Given the description of an element on the screen output the (x, y) to click on. 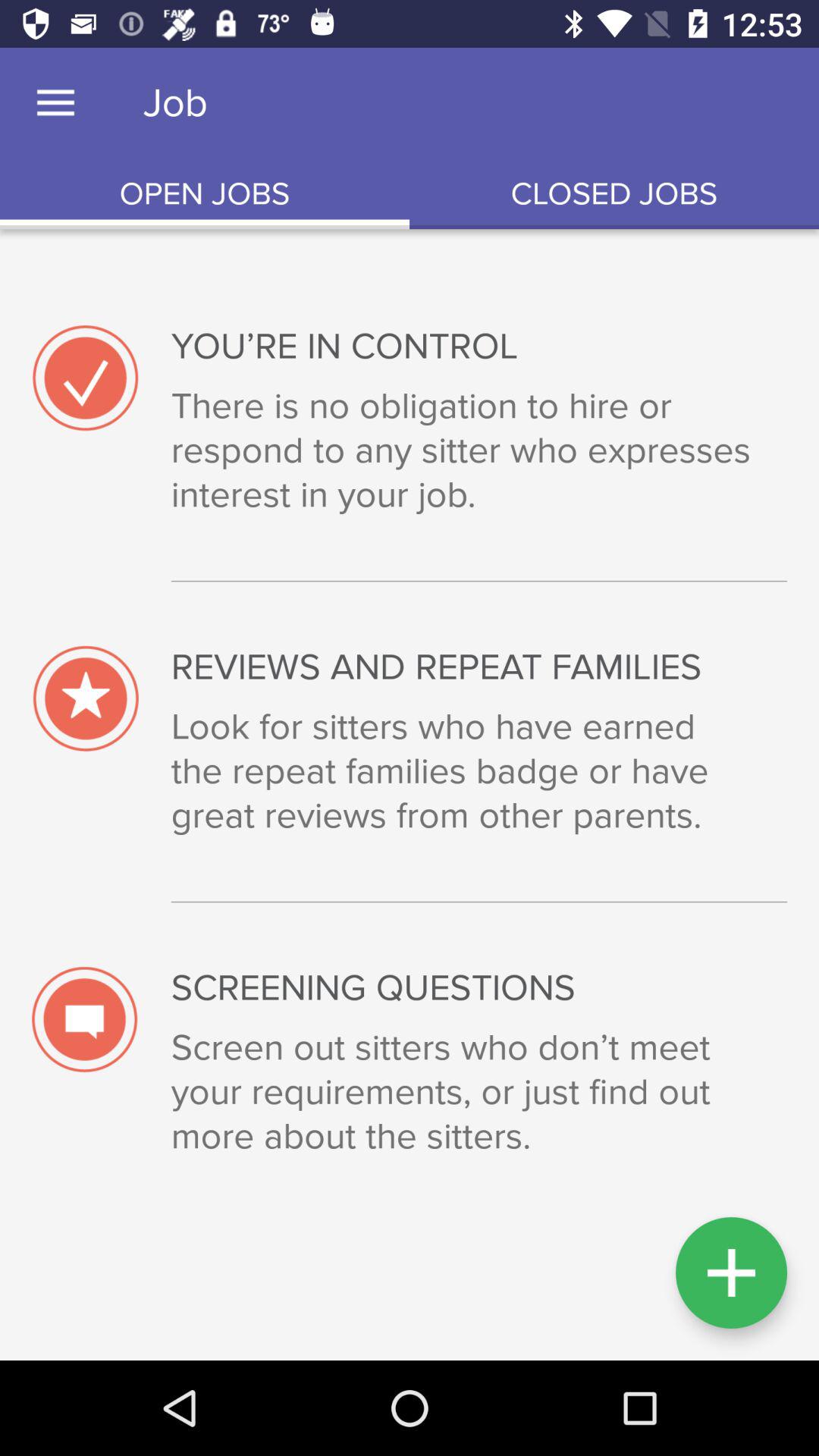
button to add something (731, 1272)
